Given the description of an element on the screen output the (x, y) to click on. 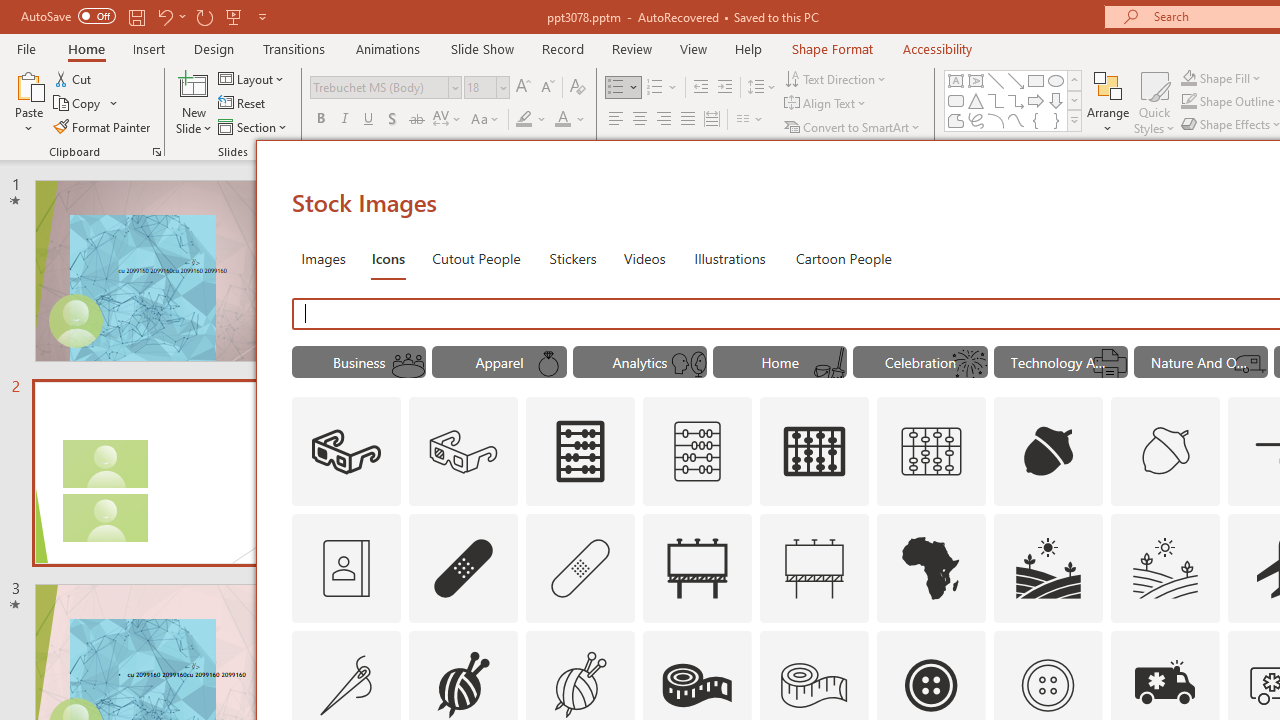
AutomationID: Icons_AdhesiveBandage (463, 568)
"Apparel" Icons. (499, 362)
AutomationID: Icons (1047, 685)
"Celebration" Icons. (920, 362)
Cutout People (477, 258)
Oval (1055, 80)
Arrow: Down (1055, 100)
Stickers (573, 258)
Align Left (616, 119)
Shape Fill Dark Green, Accent 2 (1188, 78)
